Given the description of an element on the screen output the (x, y) to click on. 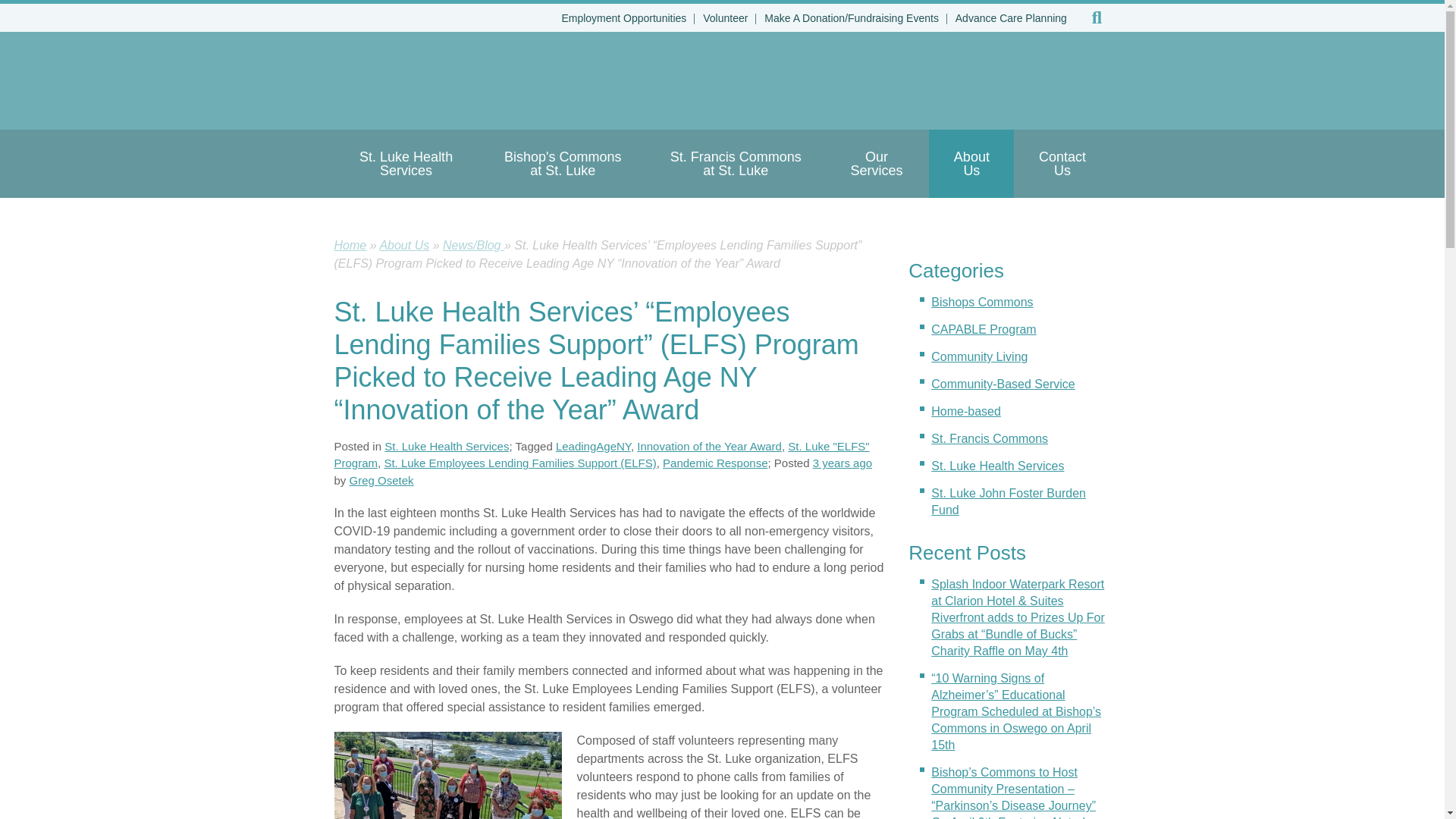
St. Francis Commons at St. Luke (735, 163)
St. Luke Health Services (997, 465)
Our Services (876, 163)
CAPABLE Program (983, 328)
Search the website (1096, 17)
Bishop's Commons at St. Luke (563, 163)
The St. Luke Family of Caring (514, 80)
Volunteer (725, 18)
Advance Care Planning (1011, 18)
About Us (970, 163)
Community-Based Service (1002, 383)
Home-based (966, 410)
Community Living (979, 356)
St. Luke Health Services (405, 163)
Bishops Commons (981, 301)
